Given the description of an element on the screen output the (x, y) to click on. 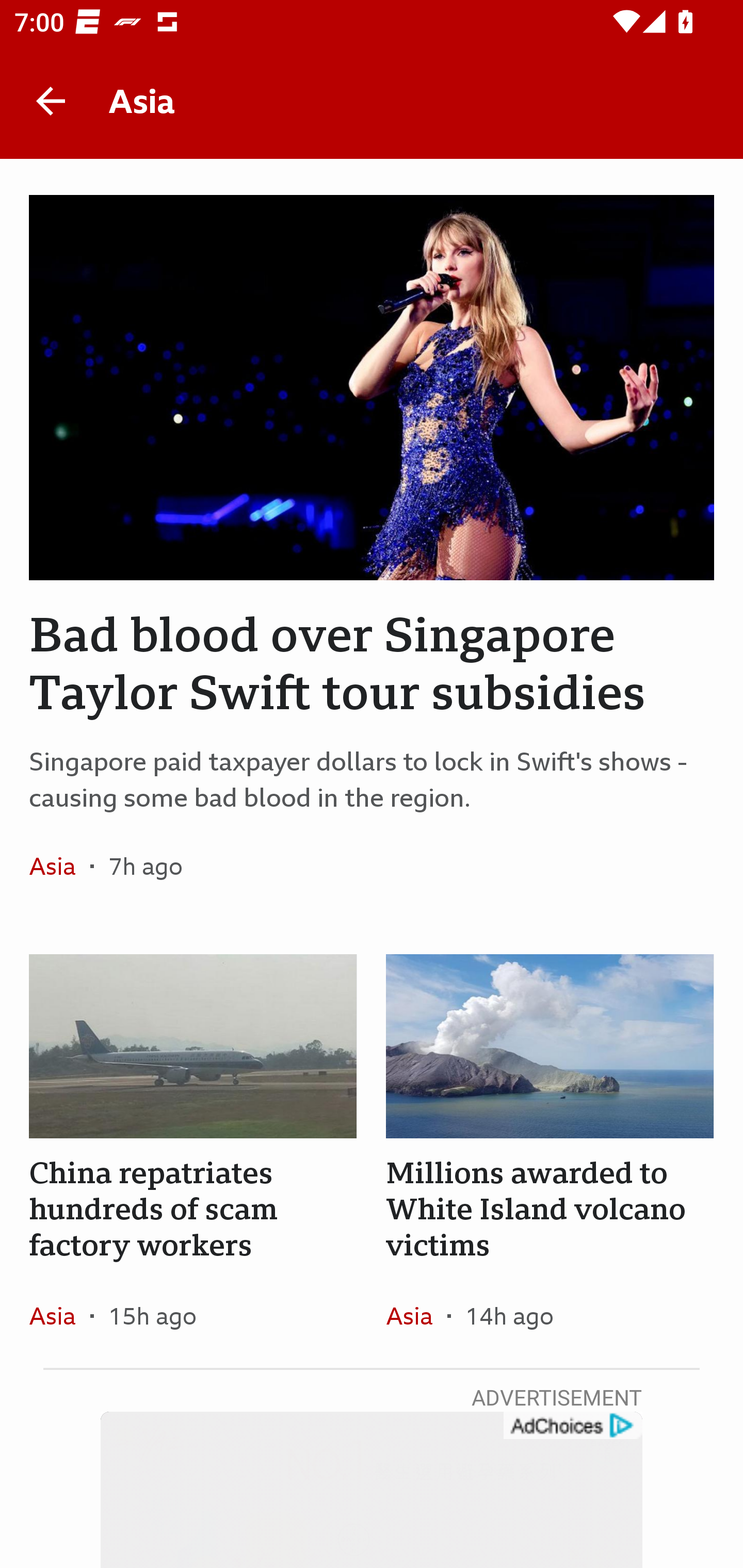
Back (50, 101)
Asia In the section Asia (59, 865)
Asia In the section Asia (59, 1315)
Asia In the section Asia (416, 1315)
Video Player get?name=admarker-full-tl   (371, 1489)
get?name=admarker-full-tl (571, 1425)
